Given the description of an element on the screen output the (x, y) to click on. 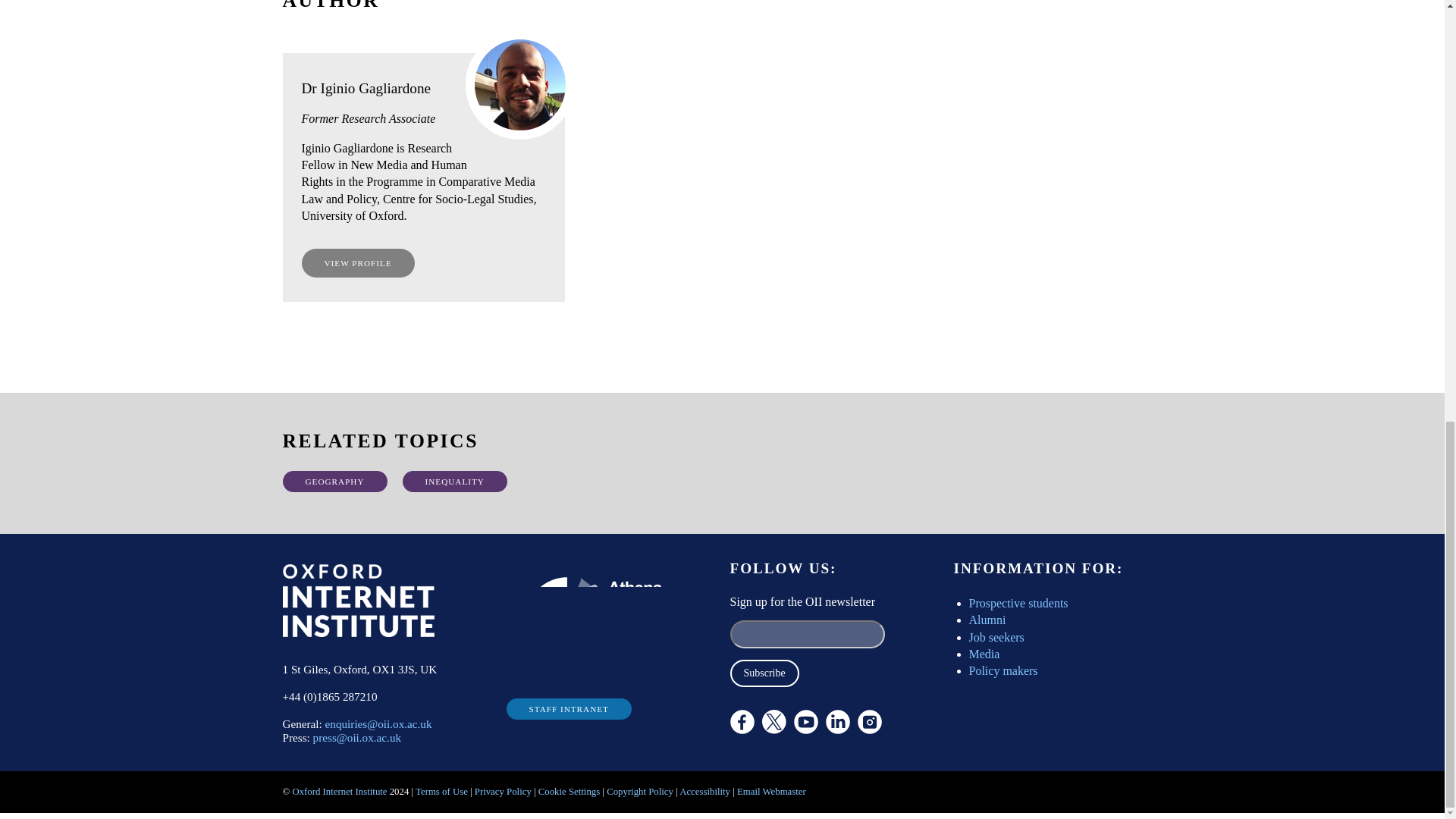
Twitter link (814, 762)
Subscribe (763, 673)
LinkedIn link (836, 721)
YouTube link (804, 721)
Facebook link (741, 721)
Instagram link (868, 721)
